Given the description of an element on the screen output the (x, y) to click on. 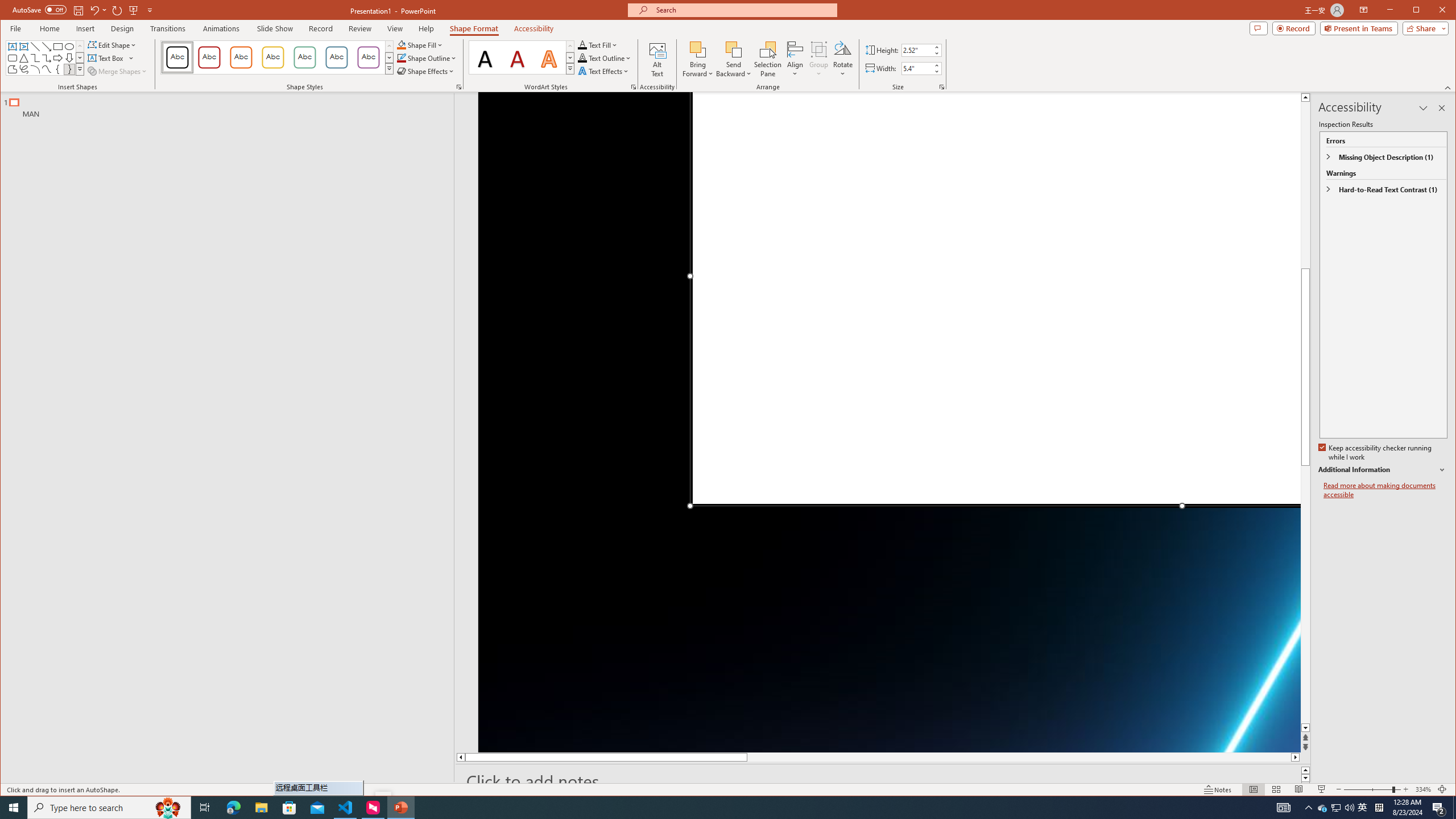
Text Outline (604, 57)
Bring Forward (697, 48)
Zoom 334% (1422, 789)
